Given the description of an element on the screen output the (x, y) to click on. 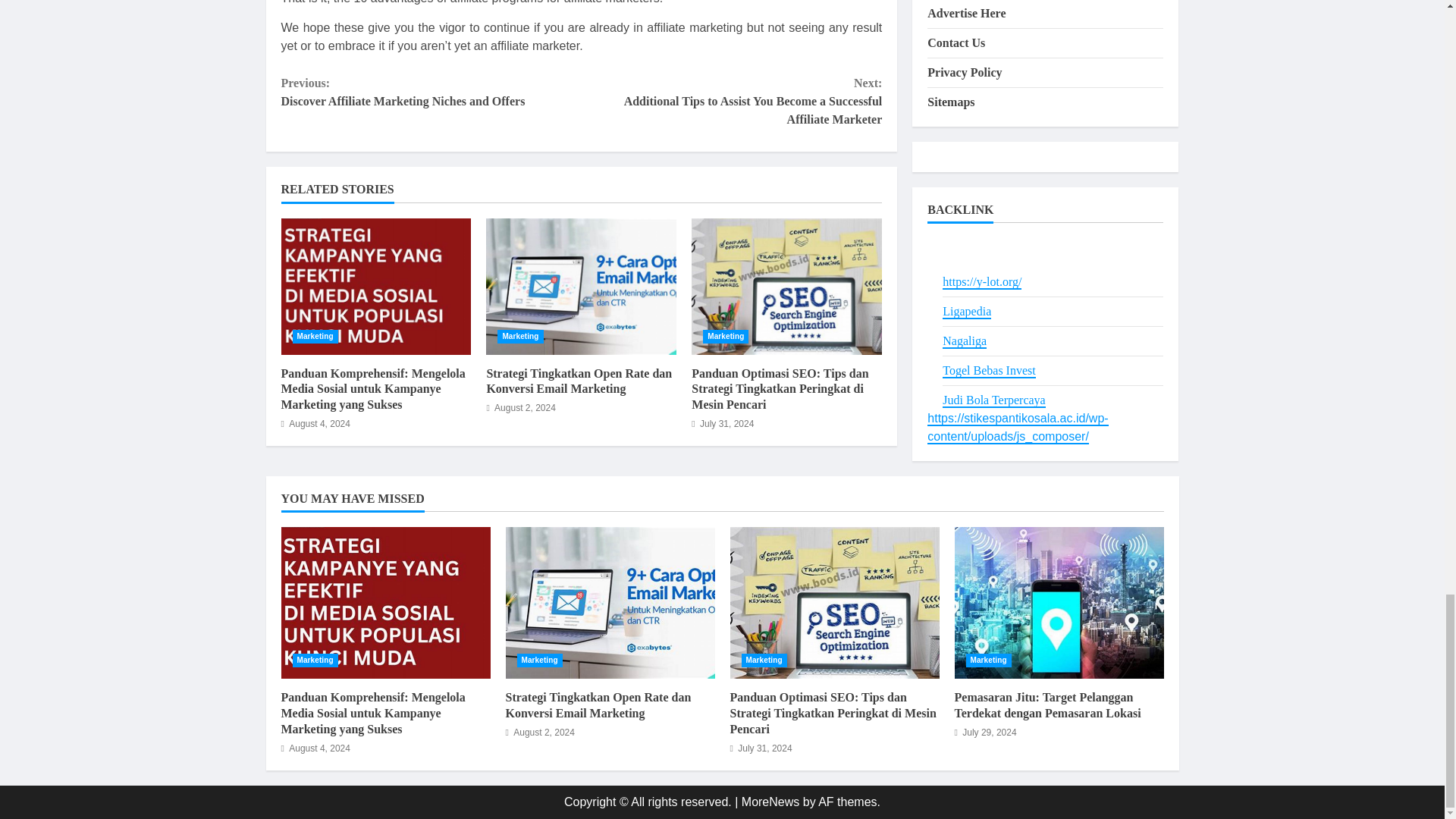
Marketing (314, 336)
Strategi Tingkatkan Open Rate dan Konversi Email Marketing (578, 380)
Marketing (520, 336)
Marketing (725, 336)
